Given the description of an element on the screen output the (x, y) to click on. 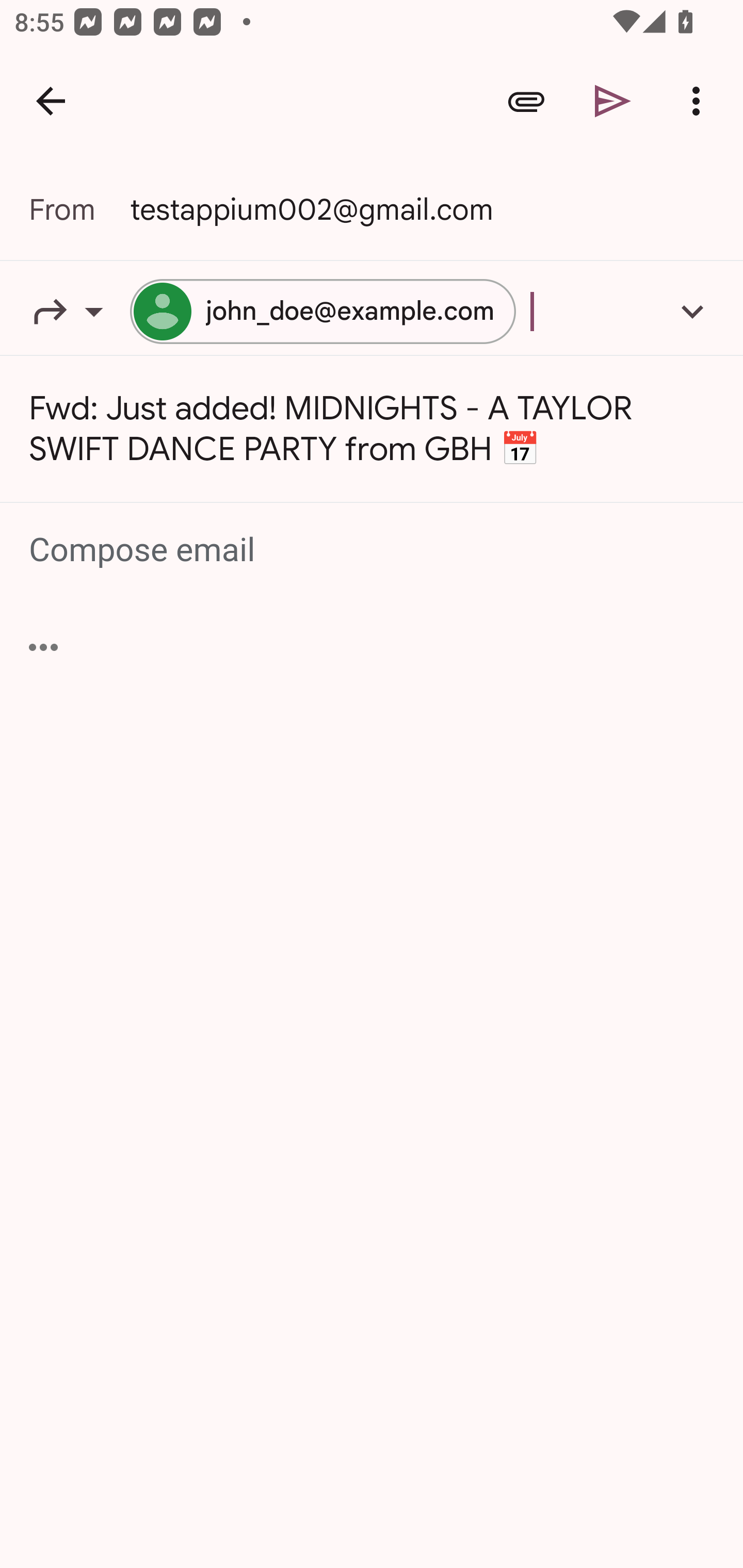
Navigate up (50, 101)
Attach file (525, 101)
Send (612, 101)
More options (699, 101)
From (79, 209)
Forward (79, 311)
Add Cc/Bcc (692, 311)
Compose email (372, 550)
Include quoted text (43, 646)
